Given the description of an element on the screen output the (x, y) to click on. 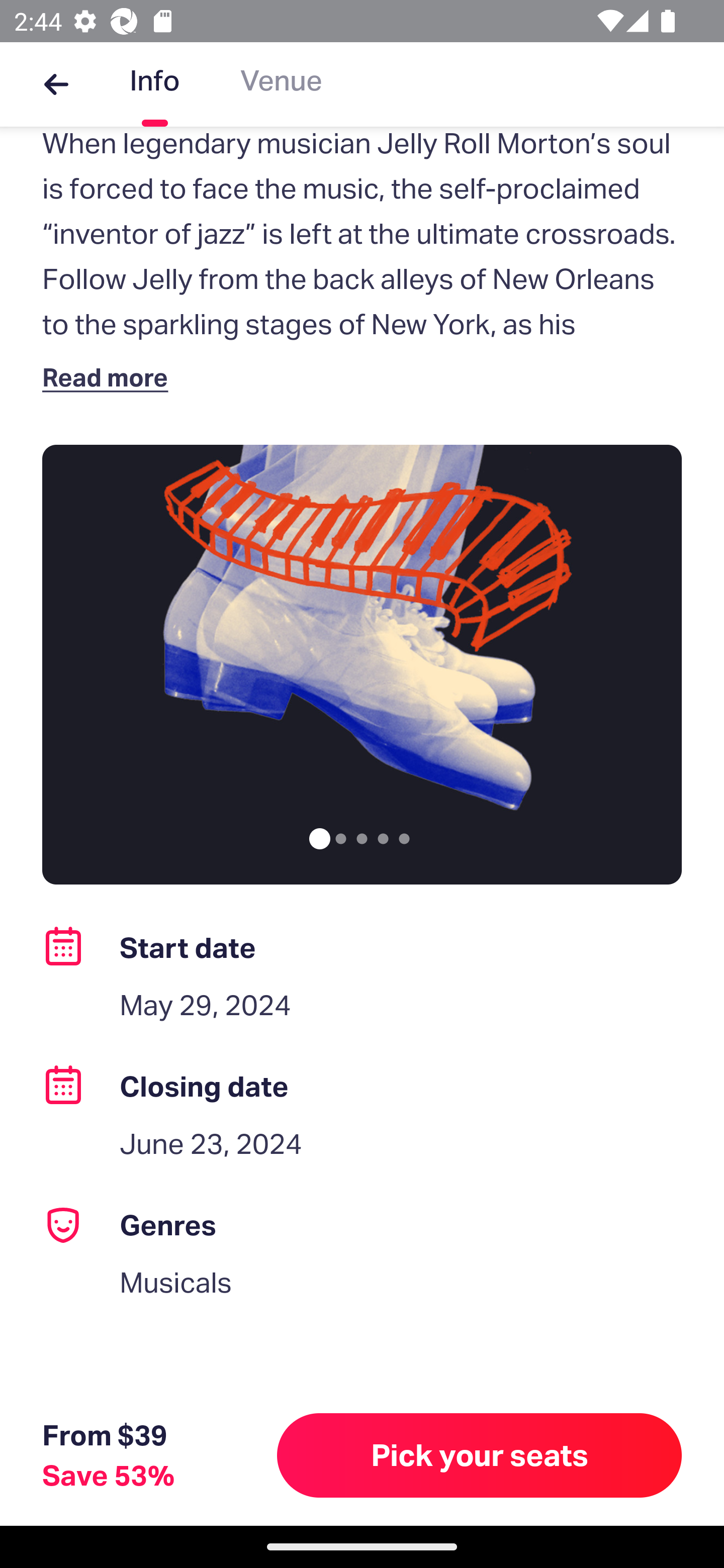
Venue (280, 84)
Read more (109, 376)
Pick your seats (479, 1454)
